Given the description of an element on the screen output the (x, y) to click on. 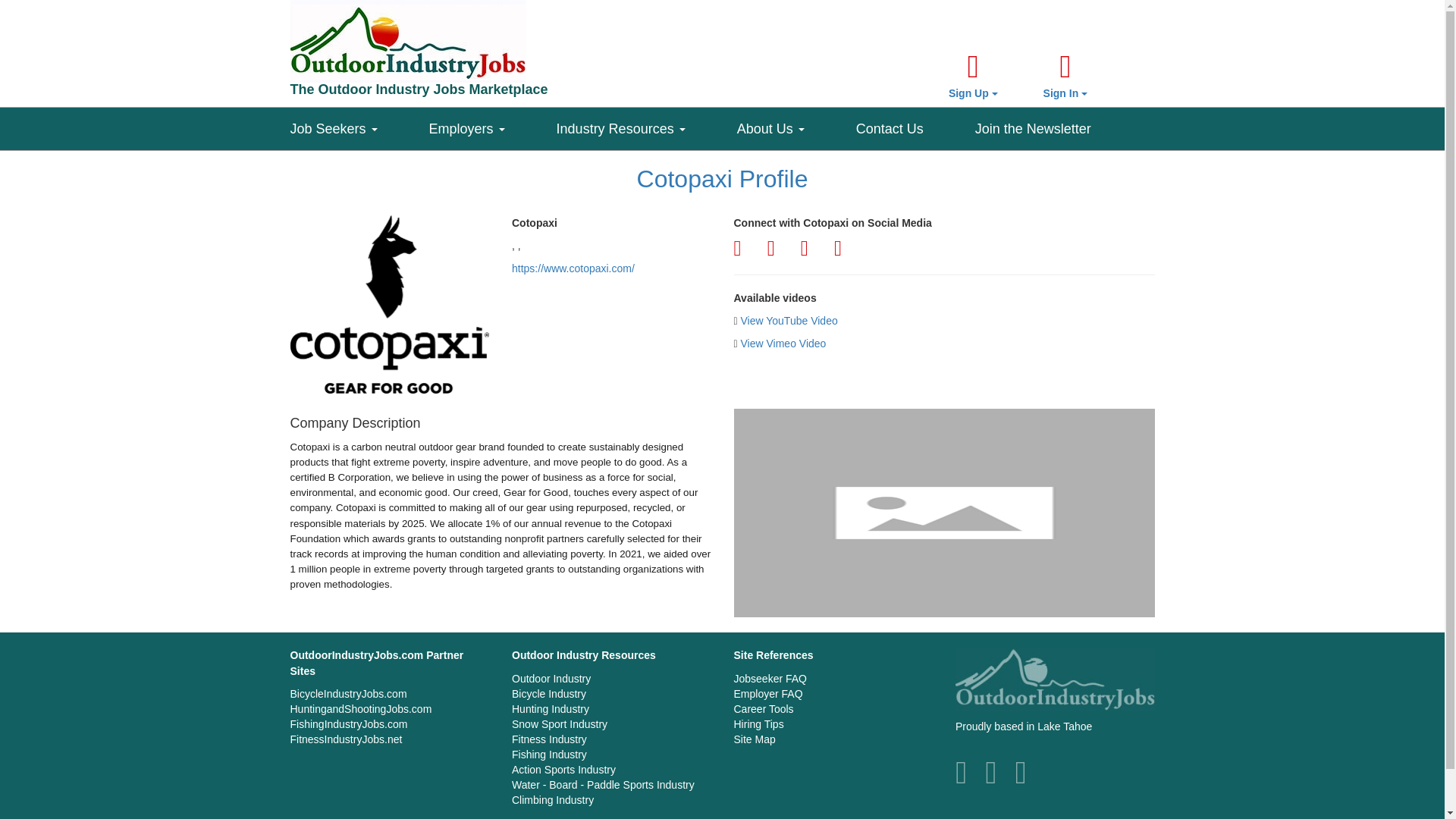
Industry Resources (646, 124)
Sign Up (973, 76)
Employers (492, 124)
Sign In (1065, 76)
Job Seekers (358, 124)
